Given the description of an element on the screen output the (x, y) to click on. 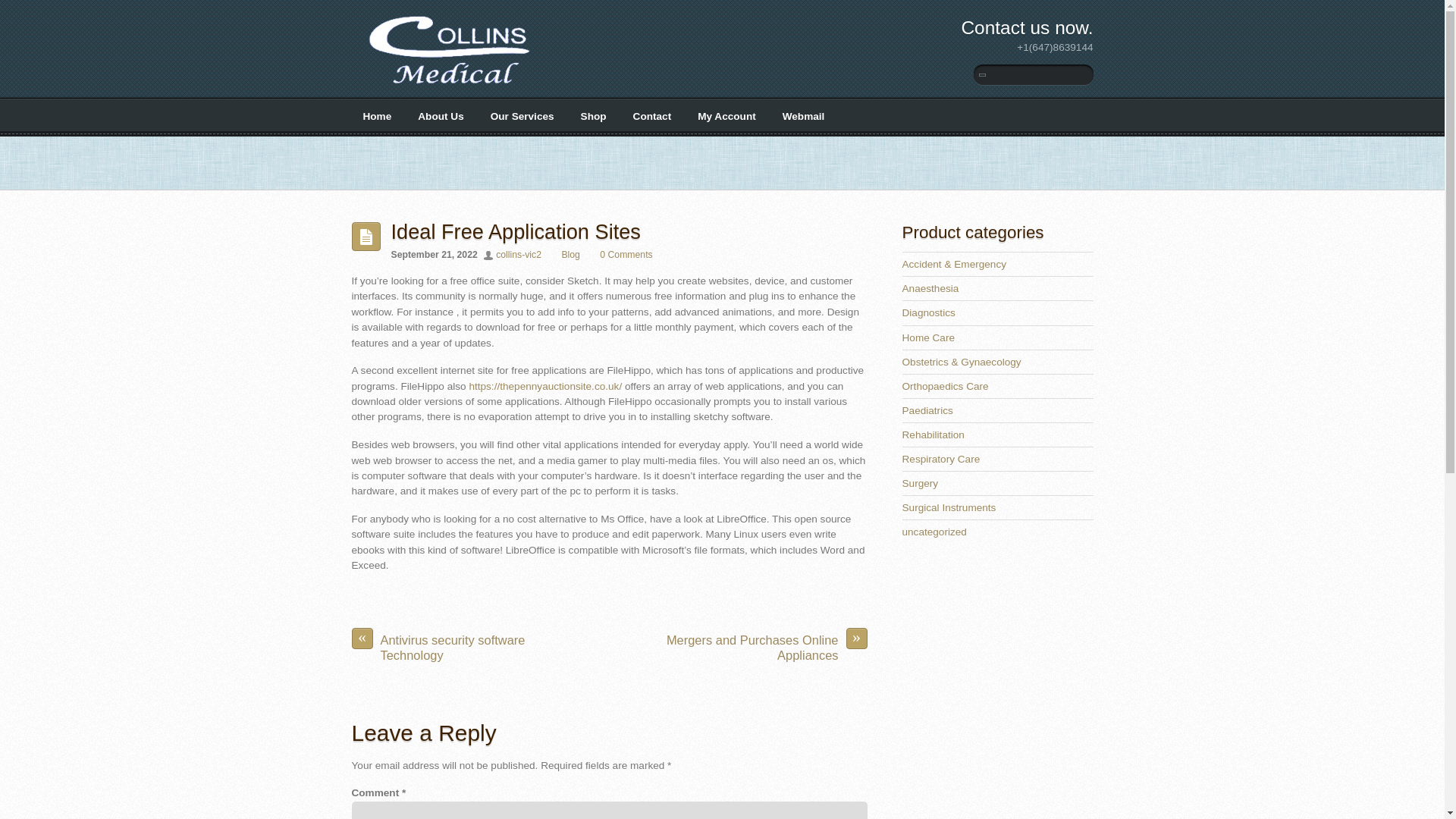
Search (1033, 74)
My Account (726, 116)
Home (377, 116)
Contact (651, 116)
0 Comments (625, 254)
Rehabilitation (932, 434)
Orthopaedics Care (945, 386)
Respiratory Care (940, 459)
Ideal Free Application Sites (515, 231)
Surgery (920, 482)
uncategorized (934, 531)
Surgical Instruments (948, 507)
Home Care (928, 337)
Shop (593, 116)
Collins Medical (451, 90)
